Given the description of an element on the screen output the (x, y) to click on. 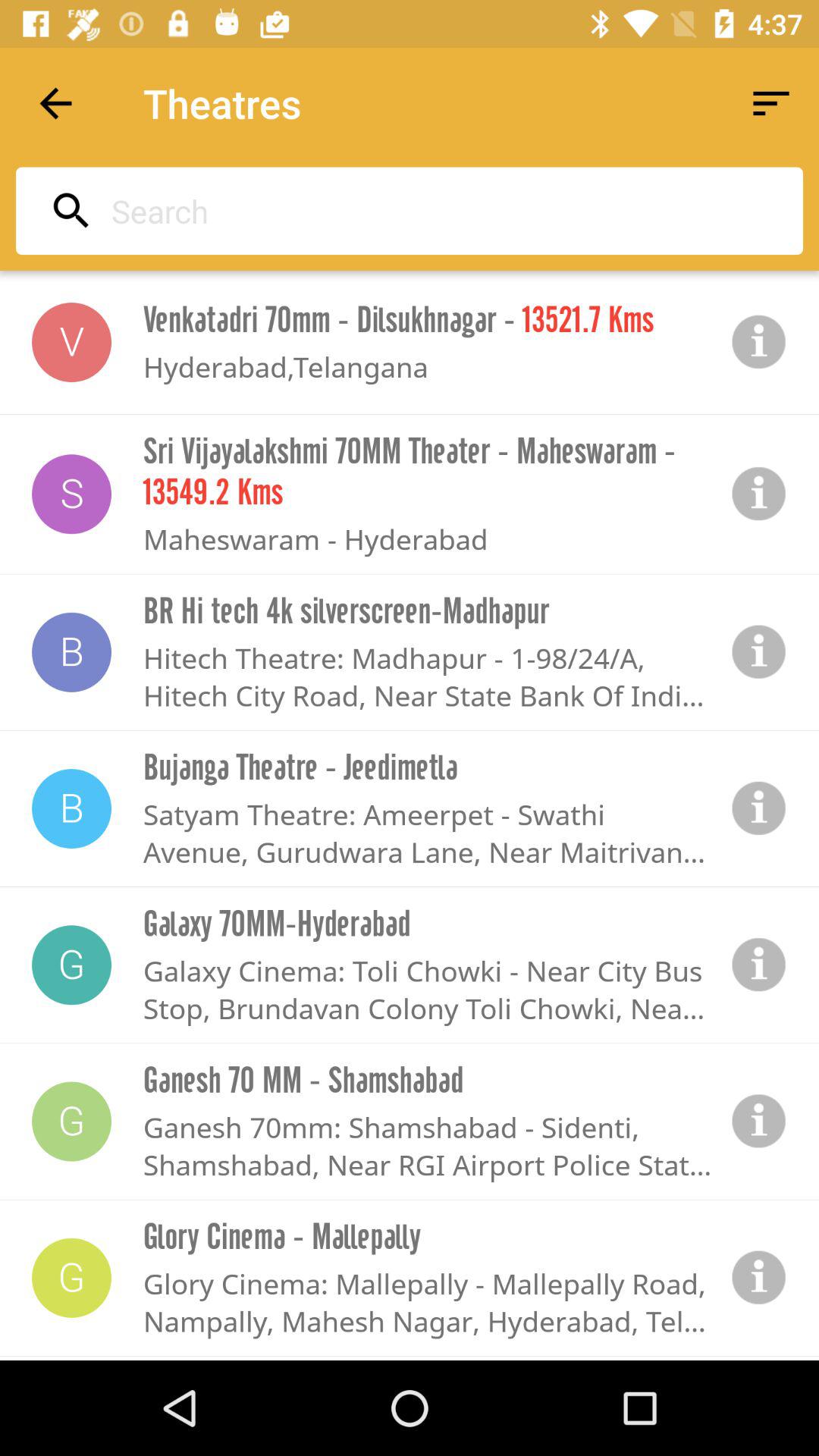
input search for theatres (405, 210)
